Given the description of an element on the screen output the (x, y) to click on. 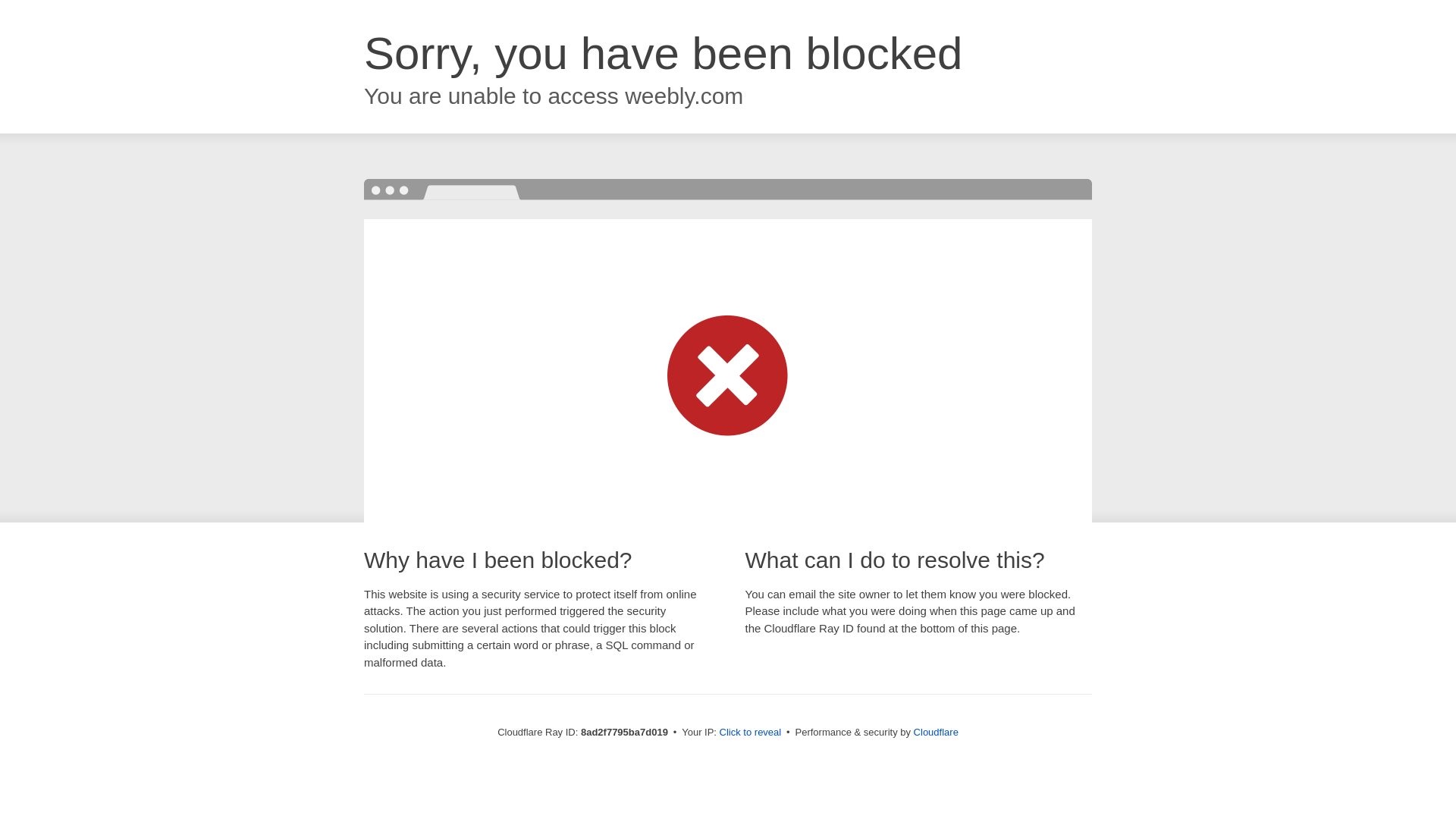
Cloudflare (936, 731)
Click to reveal (750, 732)
